Given the description of an element on the screen output the (x, y) to click on. 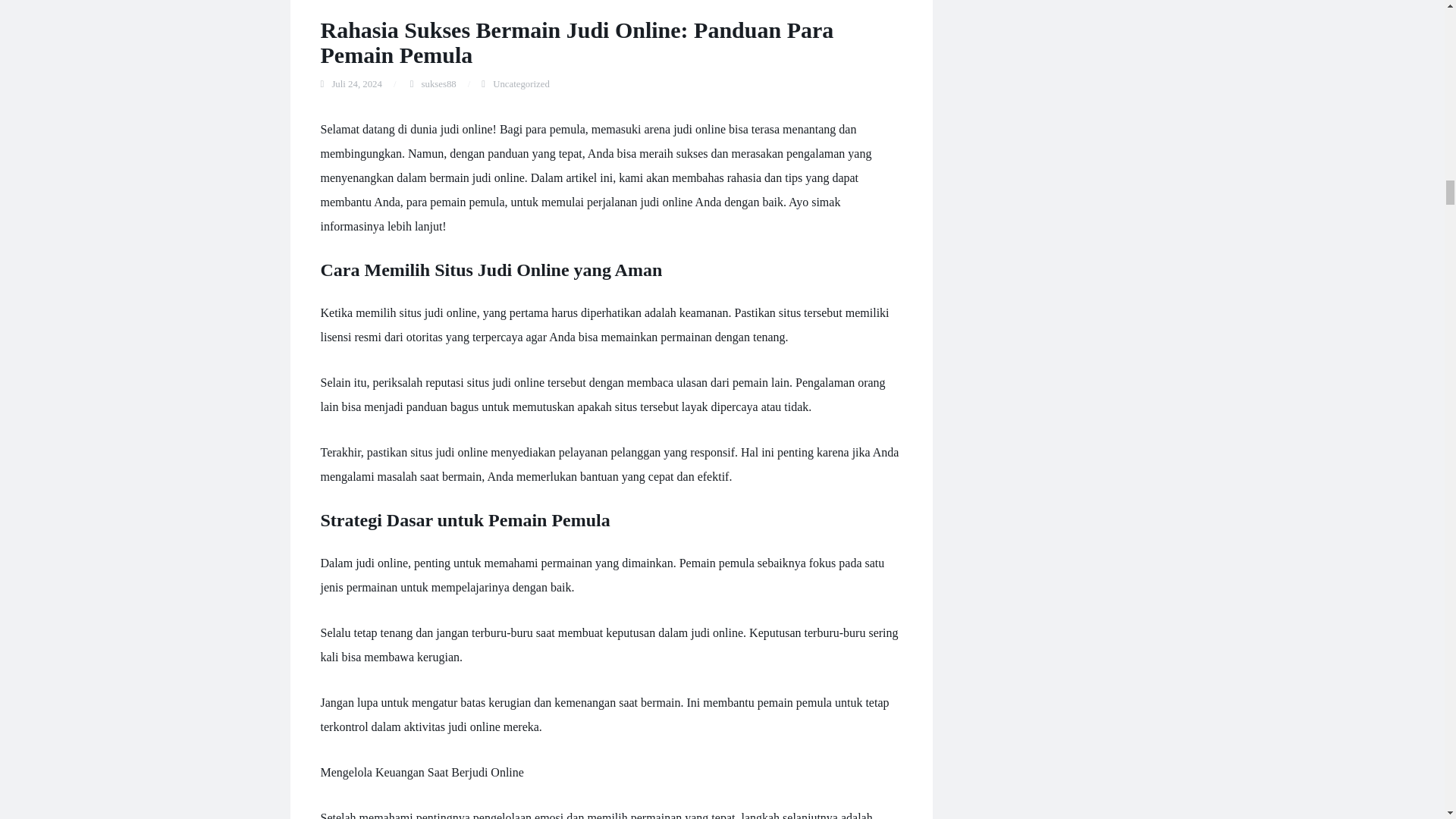
Juli 24, 2024 (356, 83)
Uncategorized (521, 83)
sukses88 (439, 83)
